Given the description of an element on the screen output the (x, y) to click on. 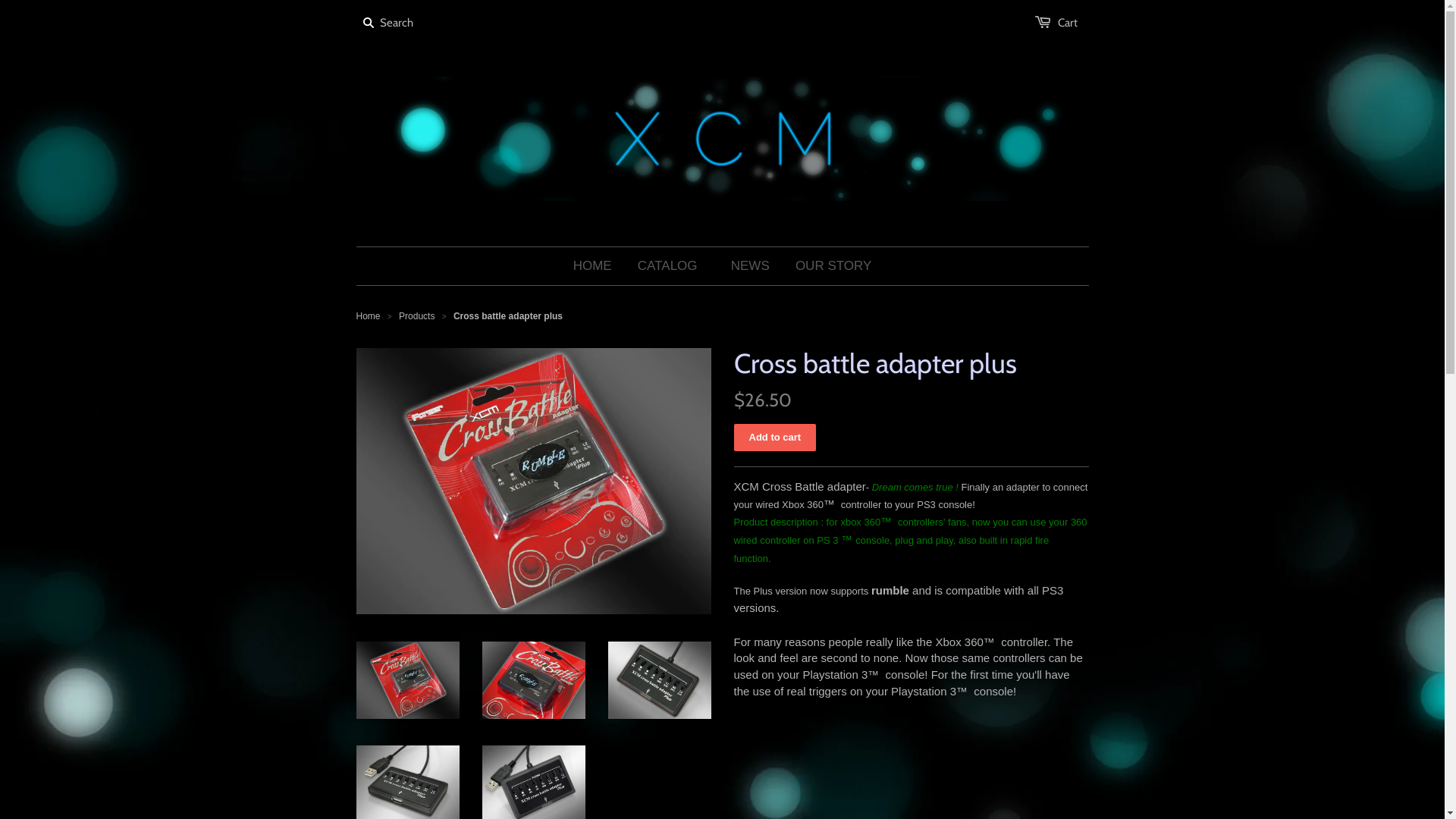
Cart Element type: text (1066, 22)
HOME Element type: text (592, 266)
Products Element type: text (416, 315)
NEWS Element type: text (750, 266)
CATALOG Element type: text (667, 266)
OUR STORY Element type: text (833, 266)
Home Element type: text (368, 315)
Add to cart Element type: text (775, 437)
